Given the description of an element on the screen output the (x, y) to click on. 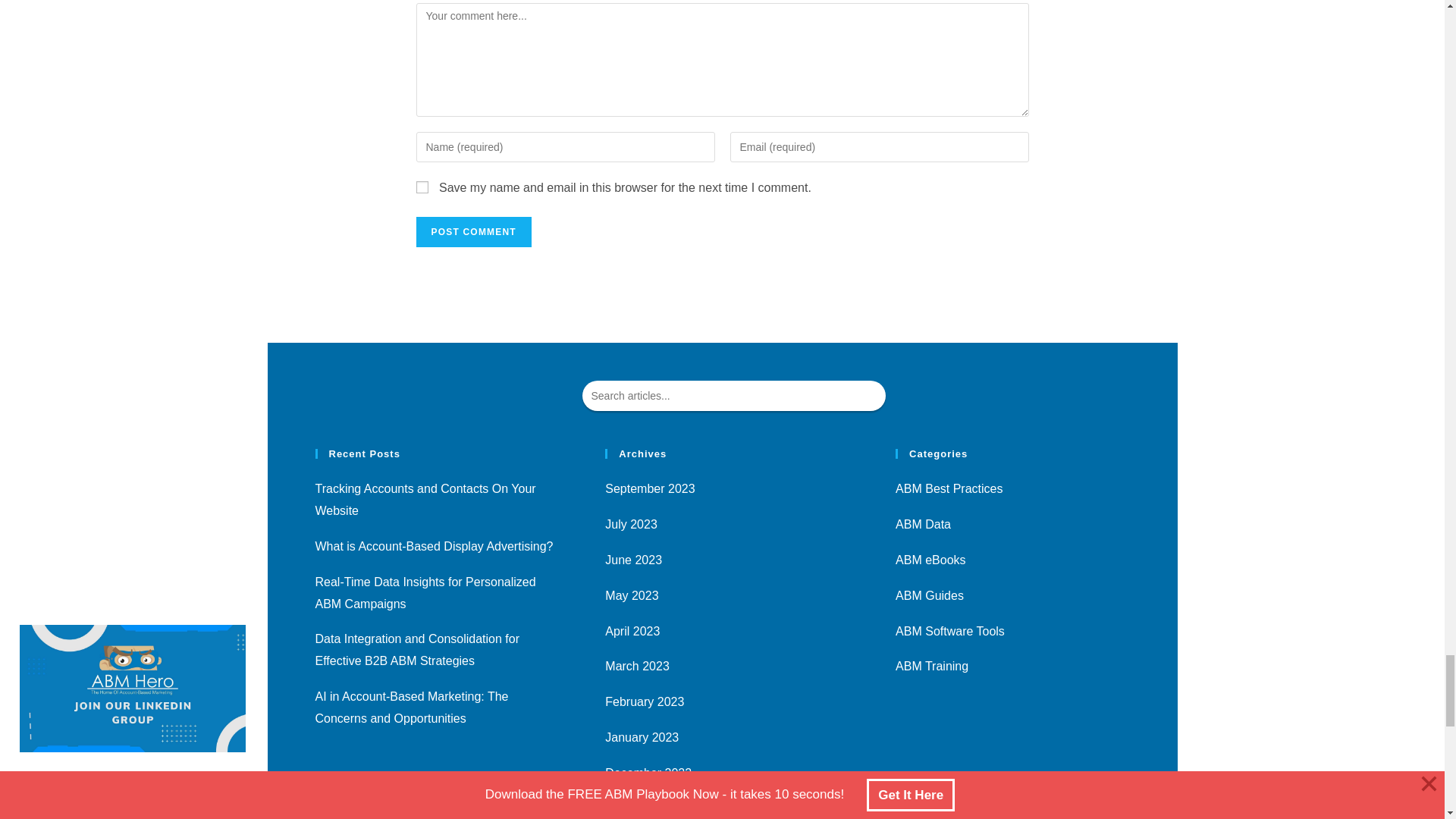
Post Comment (472, 232)
Post Comment (472, 232)
Real-Time Data Insights for Personalized ABM Campaigns (425, 592)
yes (421, 186)
What is Account-Based Display Advertising? (434, 545)
Tracking Accounts and Contacts On Your Website (425, 499)
